Given the description of an element on the screen output the (x, y) to click on. 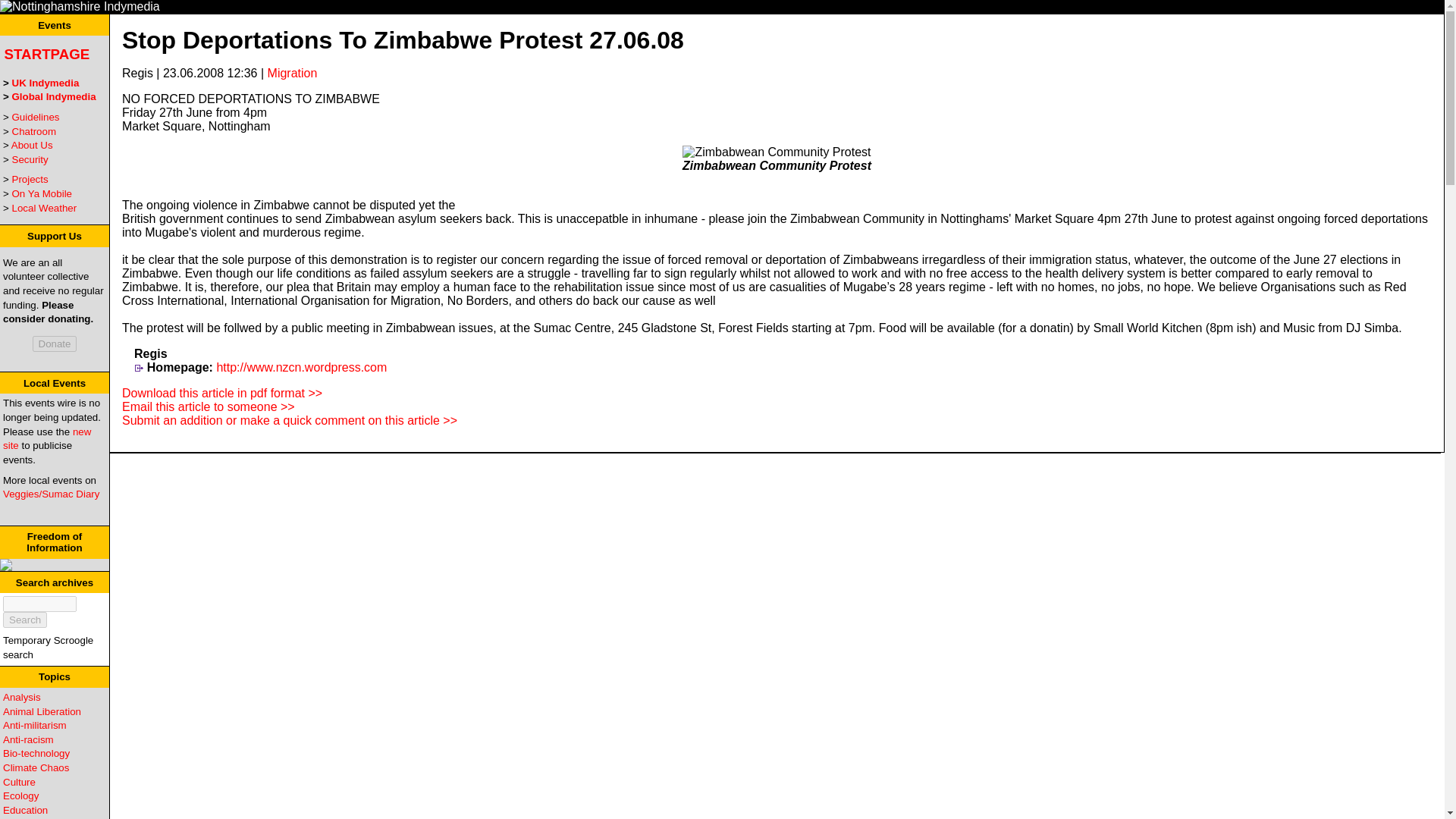
Projects (29, 179)
Ecology (20, 795)
Donate (54, 343)
Search (24, 619)
UK Indymedia (45, 82)
Cultural news. (18, 781)
Animal Liberation (41, 710)
Donate (54, 343)
new site (46, 438)
GM, GMOs, gene manipulation, patents. (35, 753)
